Given the description of an element on the screen output the (x, y) to click on. 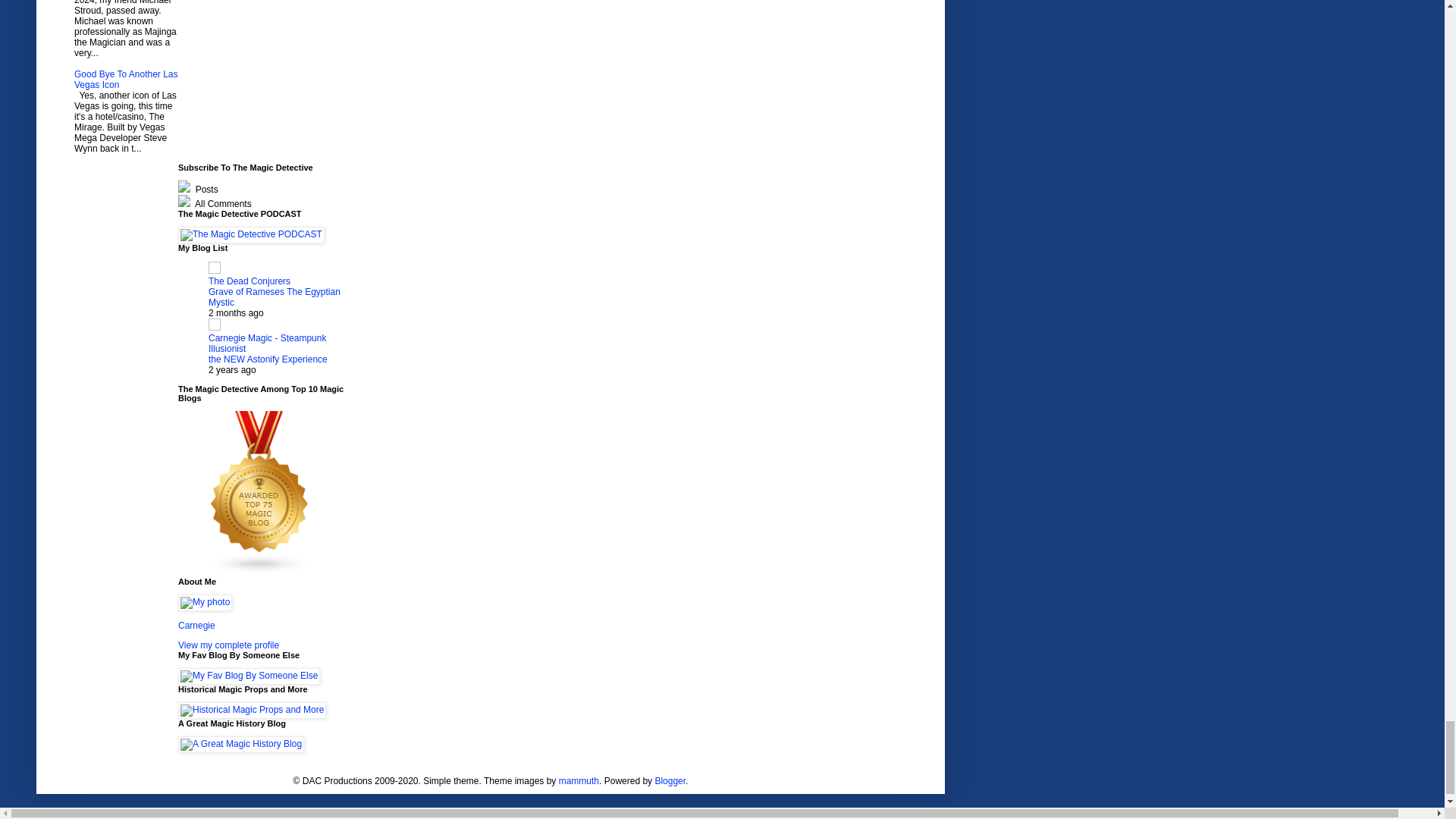
Magic blogs (259, 571)
